Given the description of an element on the screen output the (x, y) to click on. 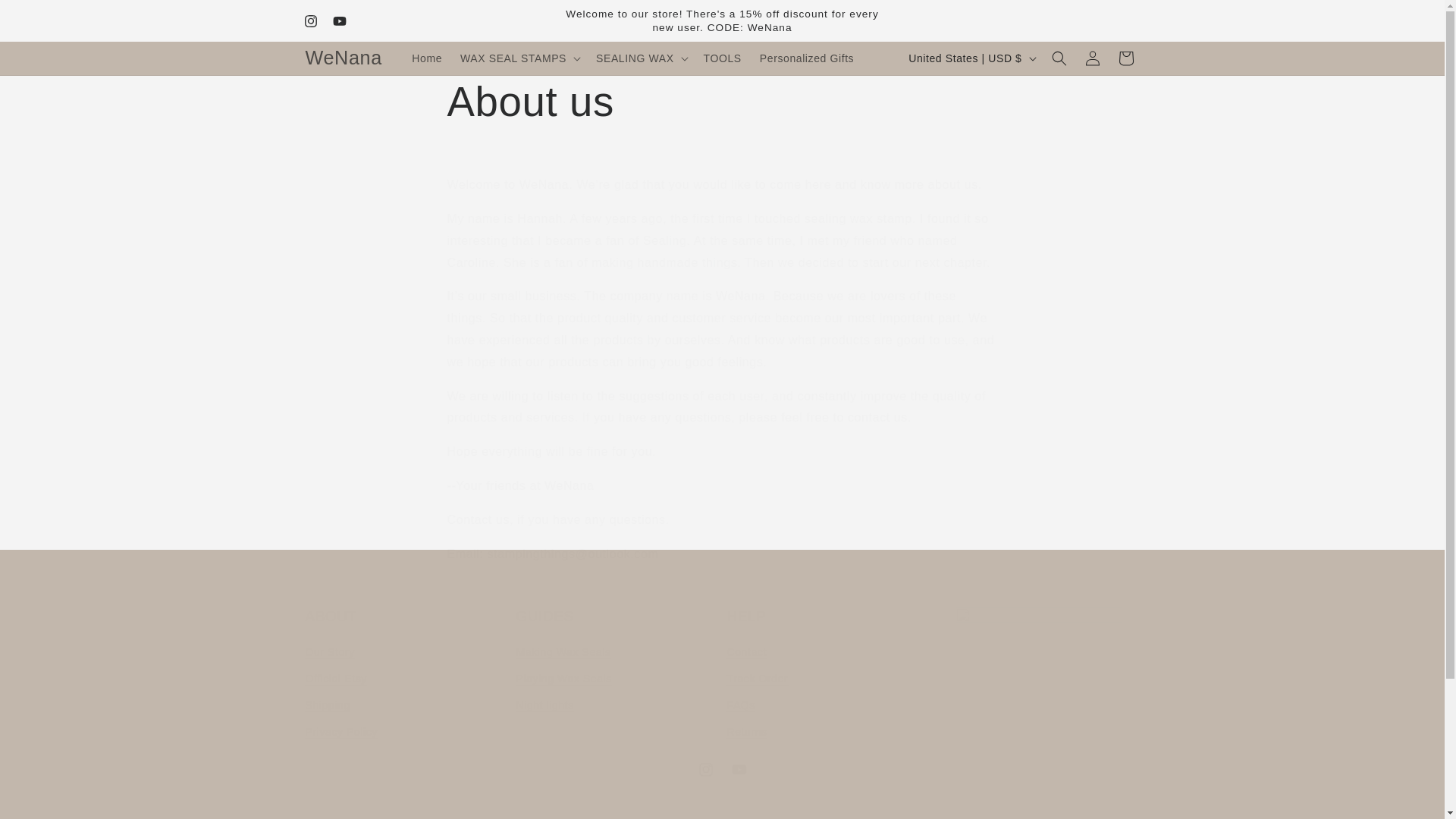
YouTube (405, 676)
Skip to content (338, 21)
Personalized Gifts (827, 676)
WeNana (45, 17)
Cart (807, 58)
TOOLS (343, 58)
